Given the description of an element on the screen output the (x, y) to click on. 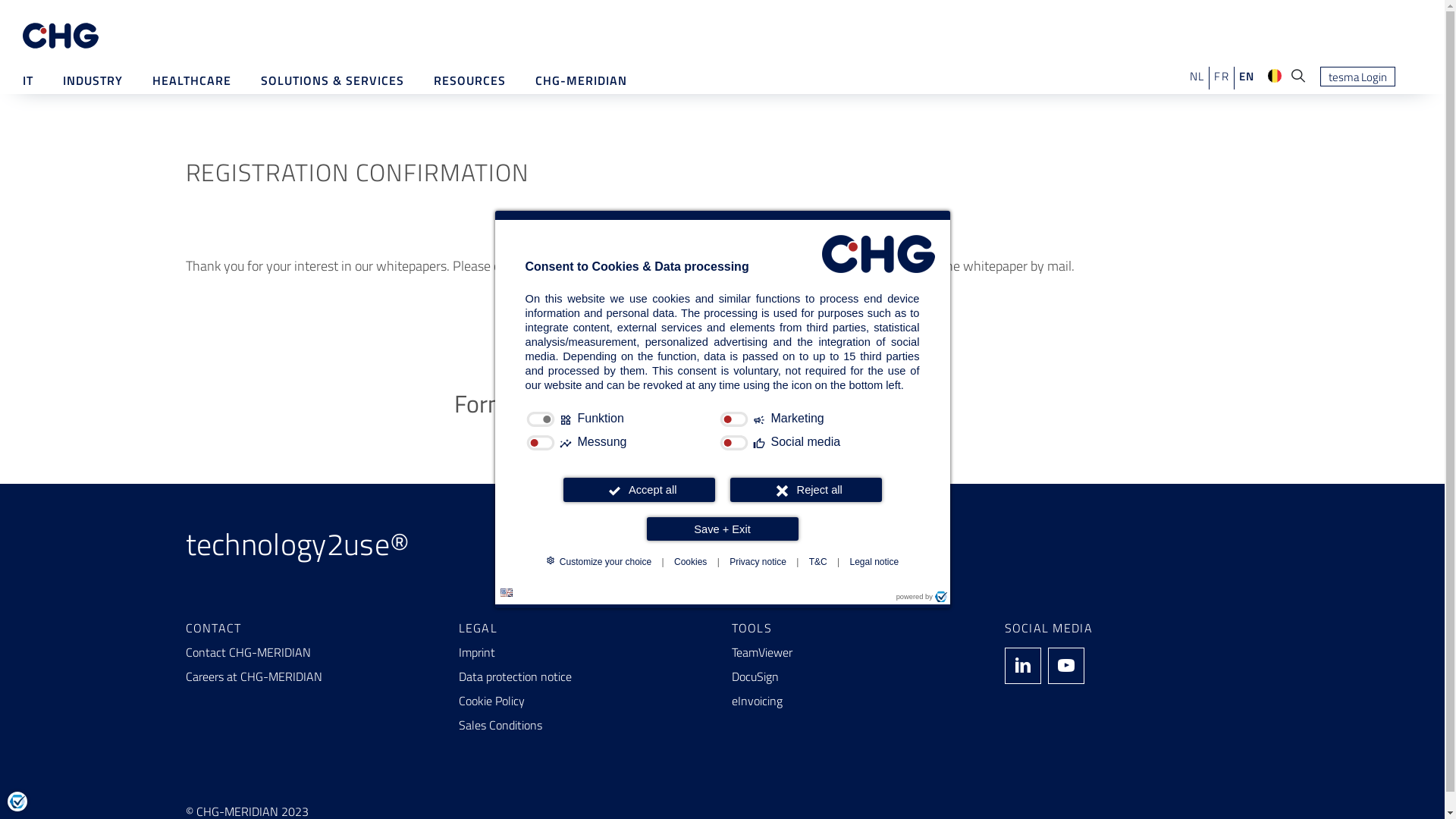
Contact CHG-MERIDIAN Element type: text (312, 651)
TeamViewer Element type: text (858, 651)
tesma Login Element type: text (1357, 76)
HEALTHCARE Element type: text (191, 80)
RESOURCES Element type: text (469, 80)
eInvoicing Element type: text (858, 700)
Data protection notice Element type: text (585, 676)
Careers at CHG-MERIDIAN Element type: text (312, 676)
NL Element type: text (1196, 75)
EN Element type: text (1247, 75)
IT Element type: text (27, 80)
FR Element type: text (1221, 75)
Imprint Element type: text (585, 651)
Cookie Policy Element type: text (585, 700)
CHG-MERIDIAN Element type: text (581, 80)
DocuSign Element type: text (858, 676)
SOLUTIONS & SERVICES Element type: text (332, 80)
INDUSTRY Element type: text (92, 80)
Sales Conditions Element type: text (585, 724)
